Given the description of an element on the screen output the (x, y) to click on. 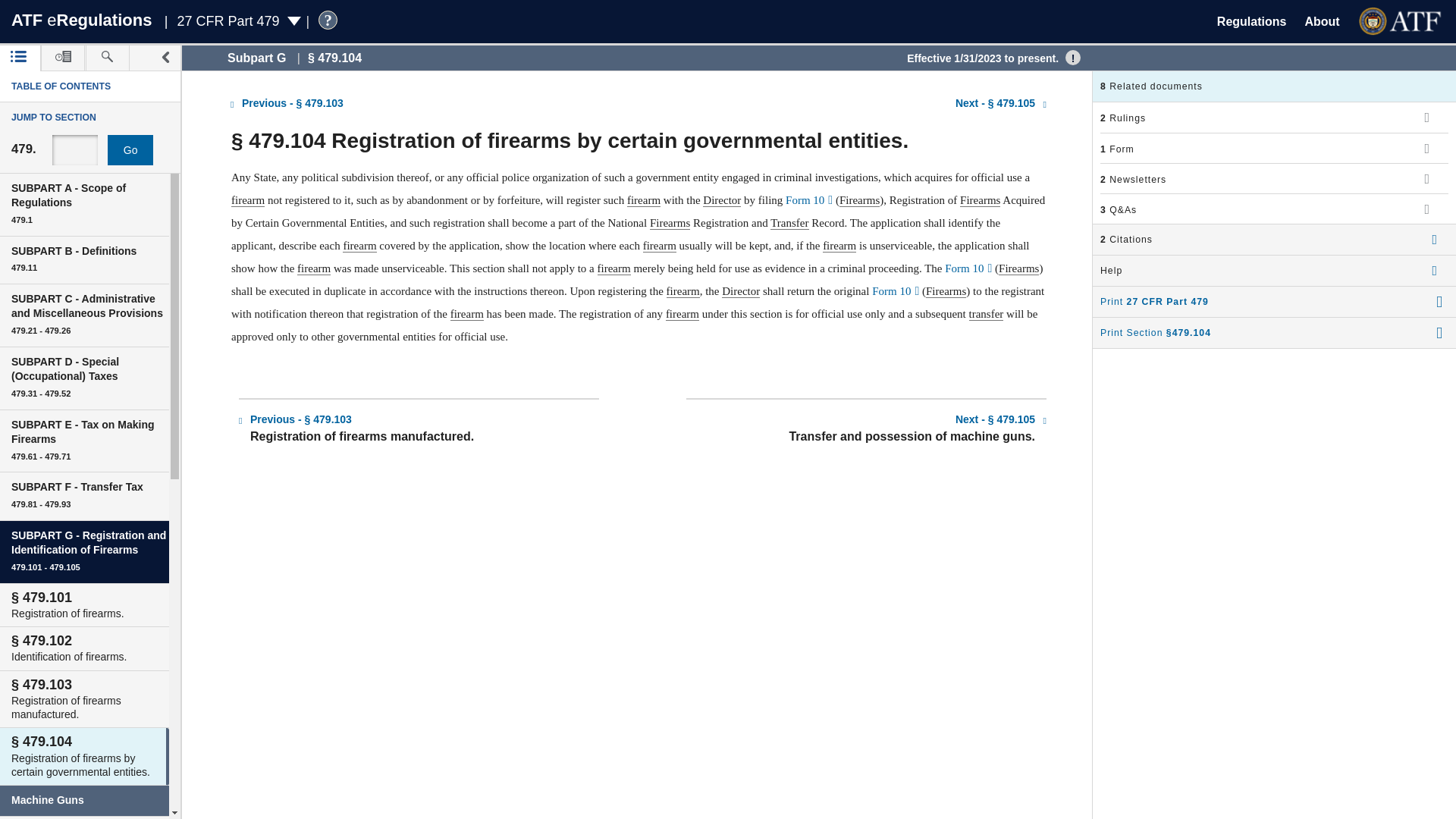
Go (129, 150)
enter section number (74, 150)
ATF eRegulations (81, 19)
Regulations (1252, 21)
Navigation drawer toggle (164, 57)
Search (107, 57)
Regulation Timeline (63, 57)
Table of Contents (20, 58)
go to section (129, 150)
ATF Home (1401, 21)
